Given the description of an element on the screen output the (x, y) to click on. 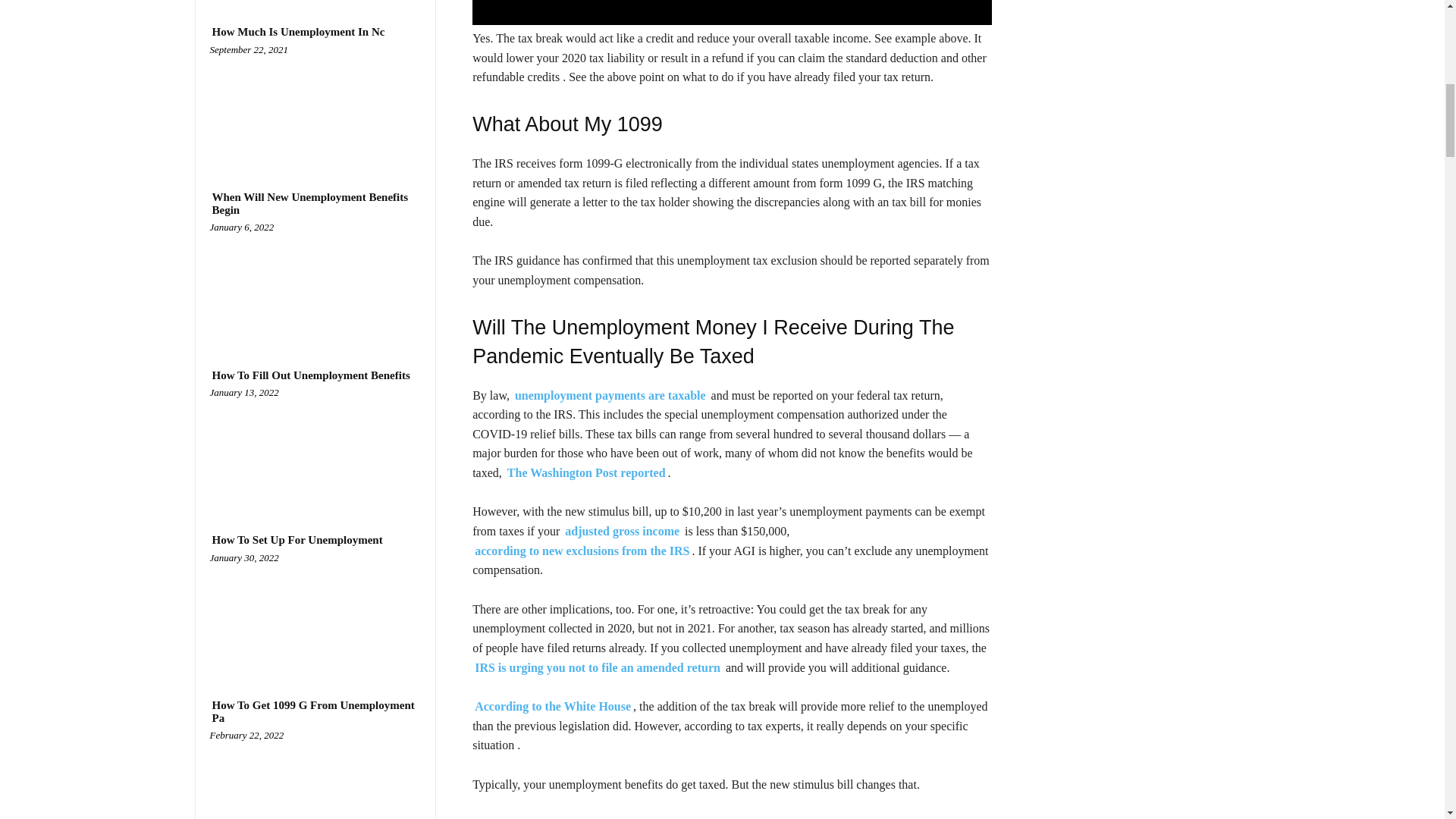
How Much Is Unemployment In Nc (298, 31)
When Will New Unemployment Benefits Begin (314, 203)
When Will New Unemployment Benefits Begin (314, 282)
How Much Is Unemployment In Nc (314, 105)
How To Fill Out Unemployment Benefits (314, 448)
